Given the description of an element on the screen output the (x, y) to click on. 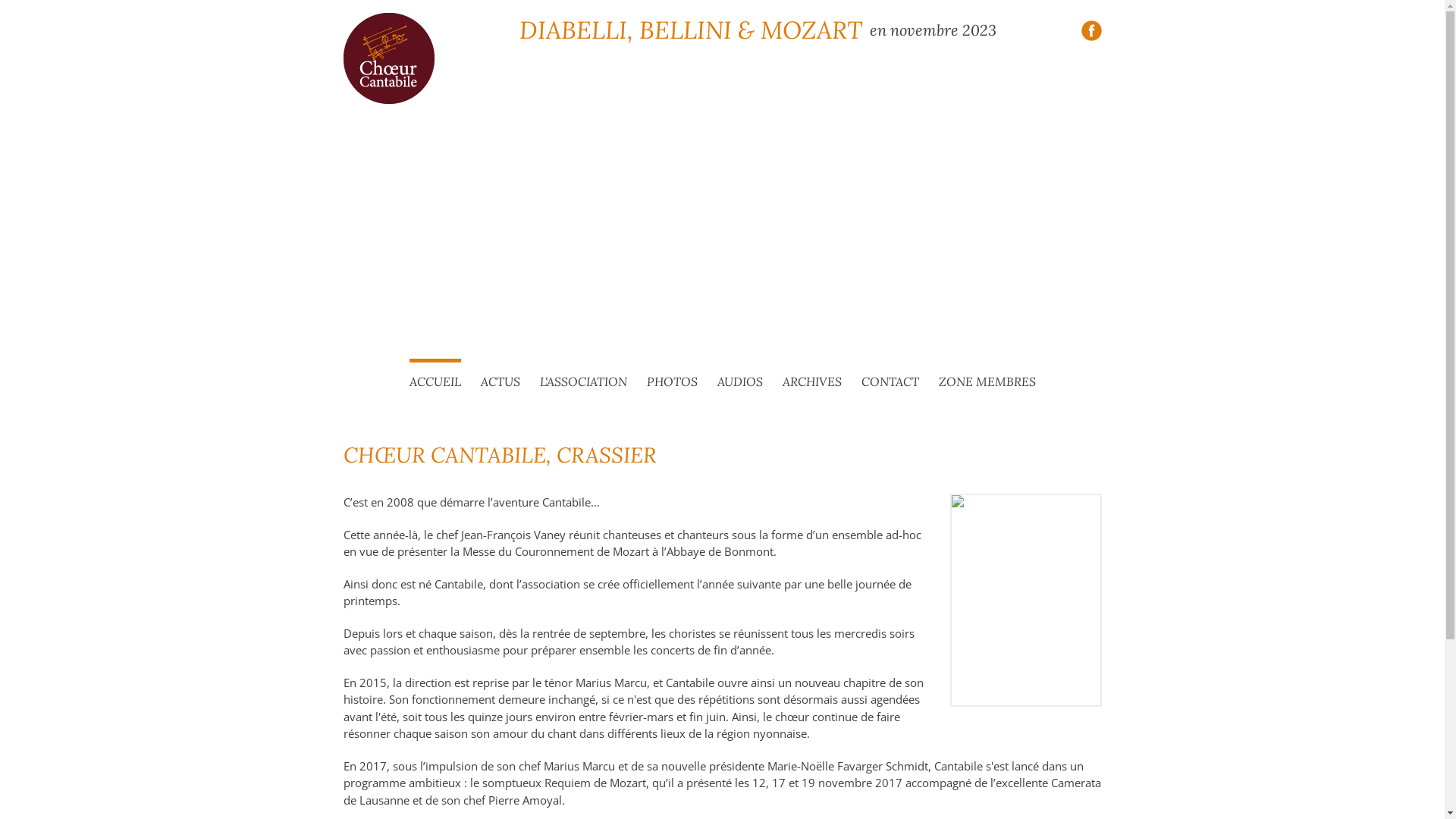
ZONE MEMBRES Element type: text (986, 381)
PHOTOS Element type: text (671, 381)
AUDIOS Element type: text (739, 381)
CONTACT Element type: text (890, 381)
ACTUS Element type: text (500, 381)
ACCUEIL Element type: text (435, 379)
